Given the description of an element on the screen output the (x, y) to click on. 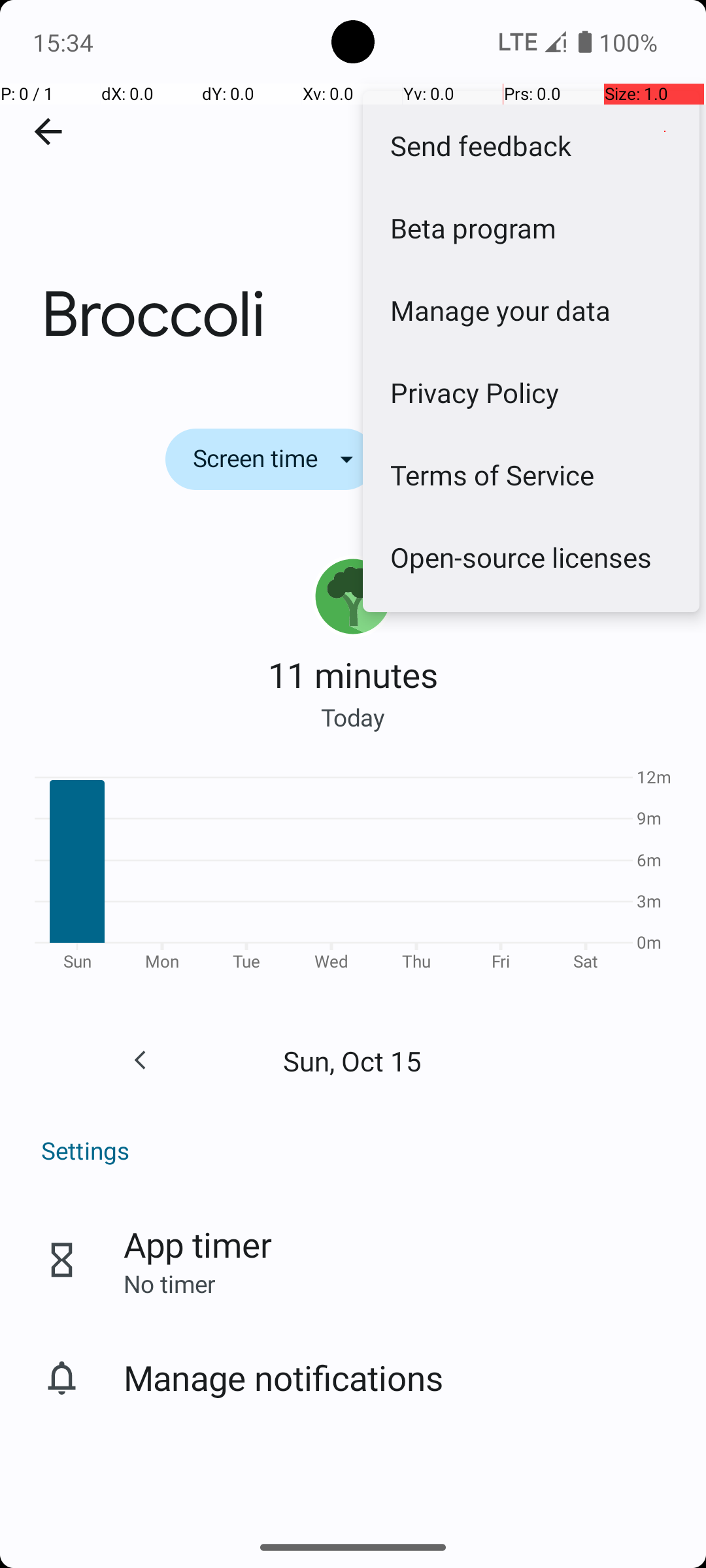
Beta program Element type: android.widget.TextView (531, 227)
Manage your data Element type: android.widget.TextView (531, 309)
Open-source licenses Element type: android.widget.TextView (531, 556)
